Given the description of an element on the screen output the (x, y) to click on. 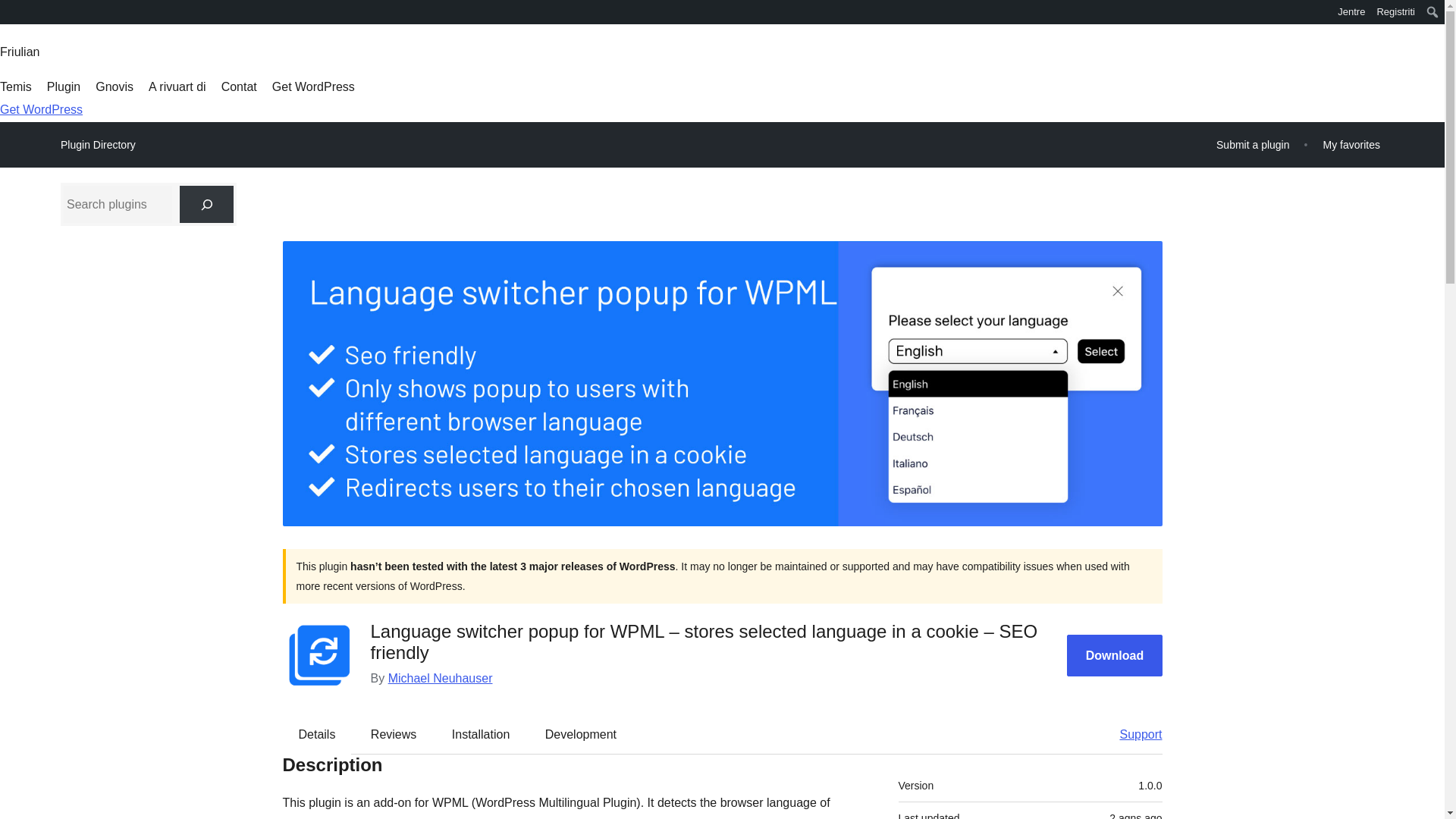
Contat (239, 87)
Get WordPress (41, 109)
Gnovis (114, 87)
WordPress.org (10, 10)
Get WordPress (313, 87)
Submit a plugin (1253, 144)
Michael Neuhauser (440, 677)
Plugin (63, 87)
Download (1114, 655)
Reviews (392, 733)
